Given the description of an element on the screen output the (x, y) to click on. 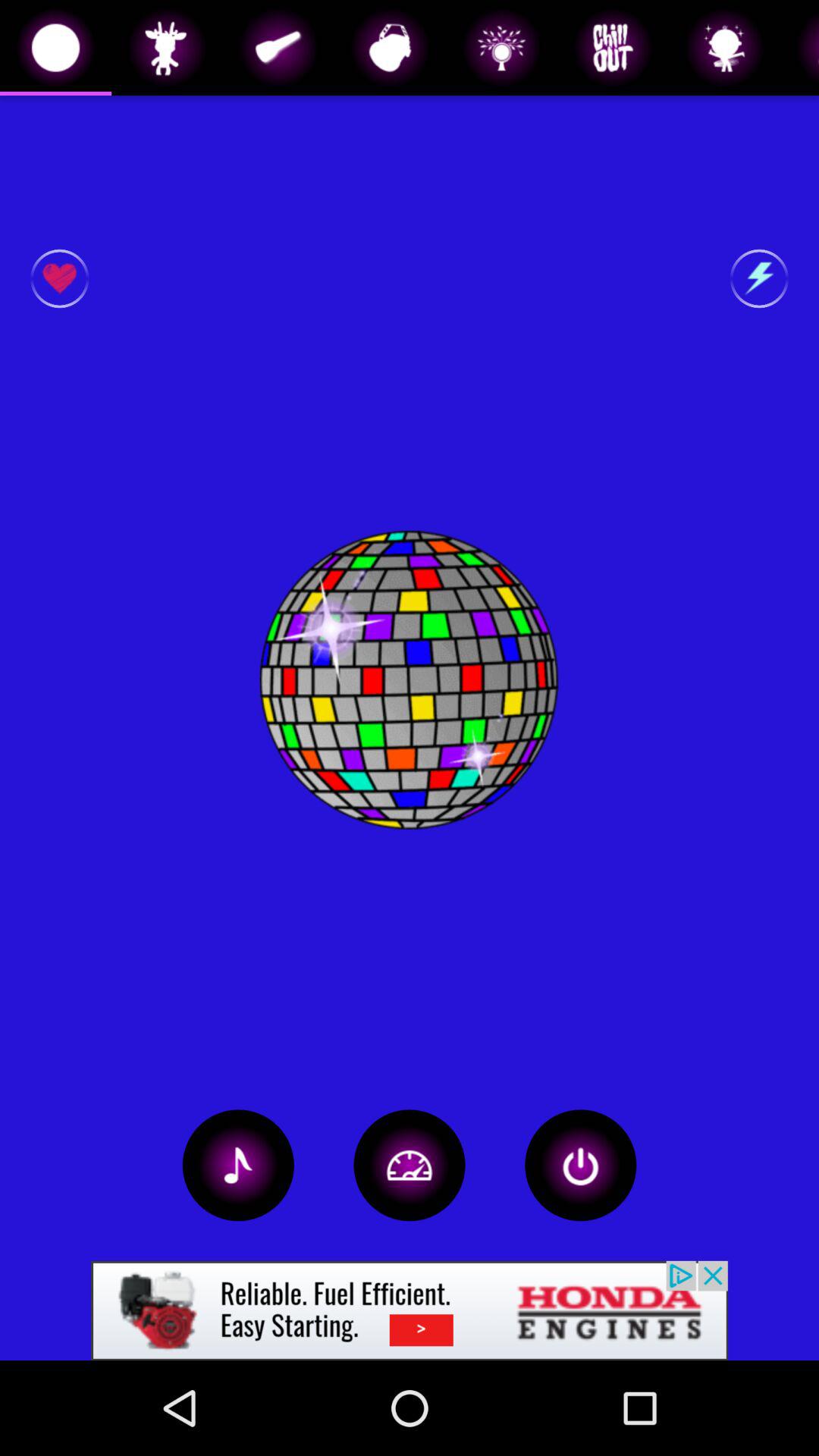
change light (409, 1165)
